Given the description of an element on the screen output the (x, y) to click on. 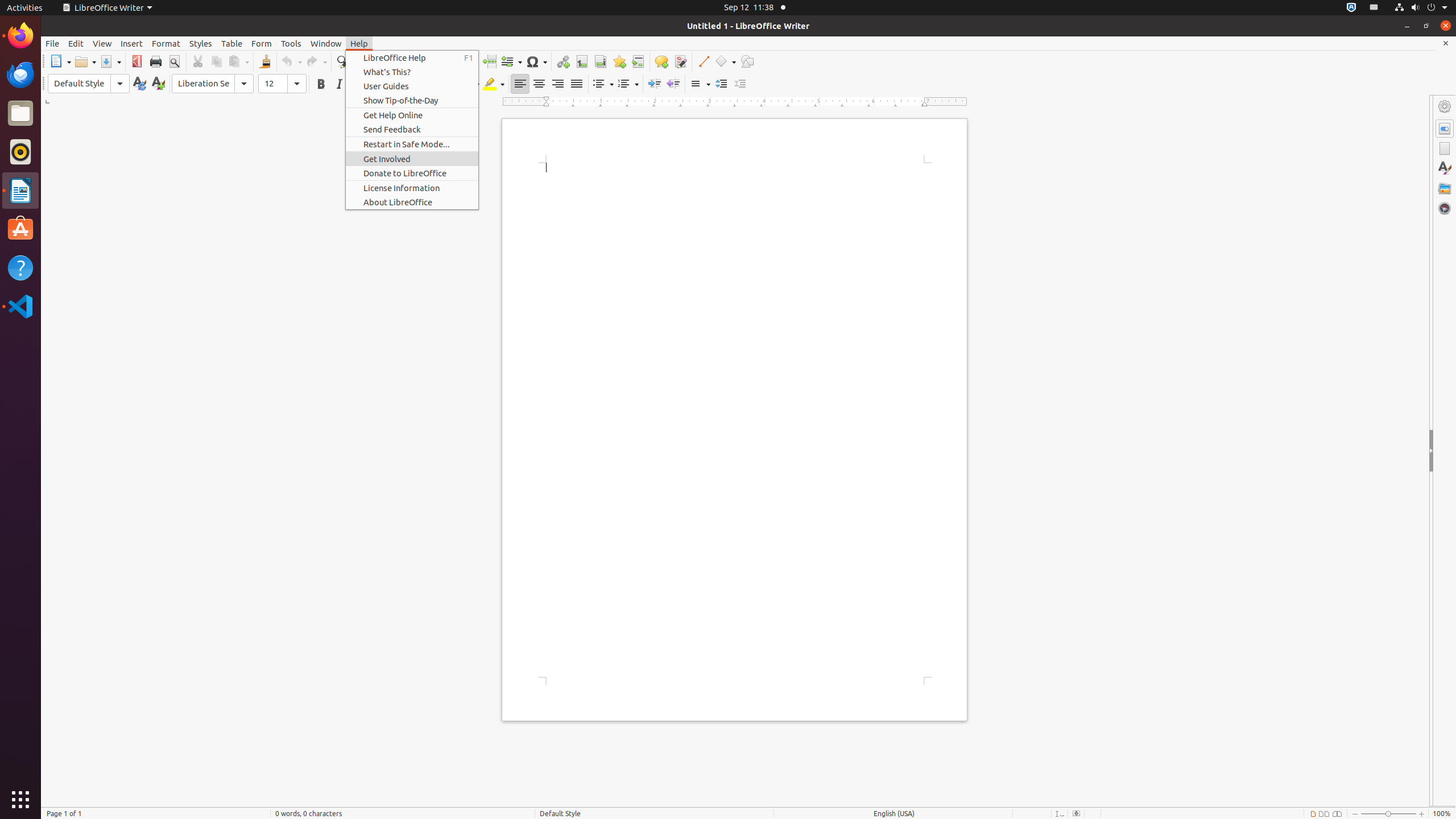
Bullets Element type: push-button (602, 83)
Bold Element type: toggle-button (320, 83)
Restart in Safe Mode... Element type: menu-item (411, 144)
Paste Element type: push-button (237, 61)
Insert Element type: menu (131, 43)
